Given the description of an element on the screen output the (x, y) to click on. 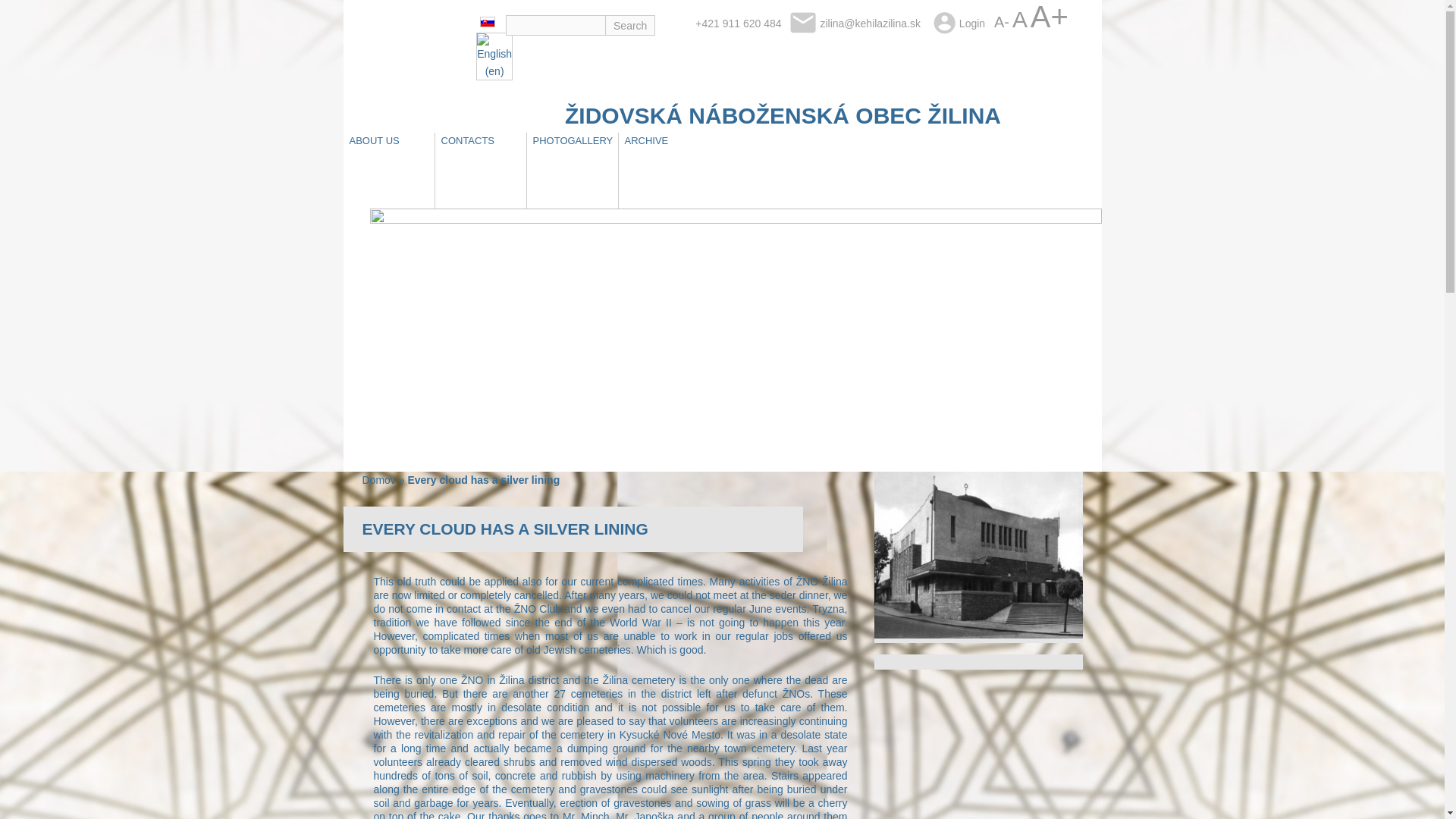
ABOUT US (373, 140)
PHOTOGALLERY (571, 140)
CONTACTS (467, 140)
ARCHIVE (646, 140)
Domov (379, 480)
Increase font size (1049, 16)
Login (972, 23)
A- (1001, 21)
Decrease font size (1001, 21)
Search (630, 25)
